Given the description of an element on the screen output the (x, y) to click on. 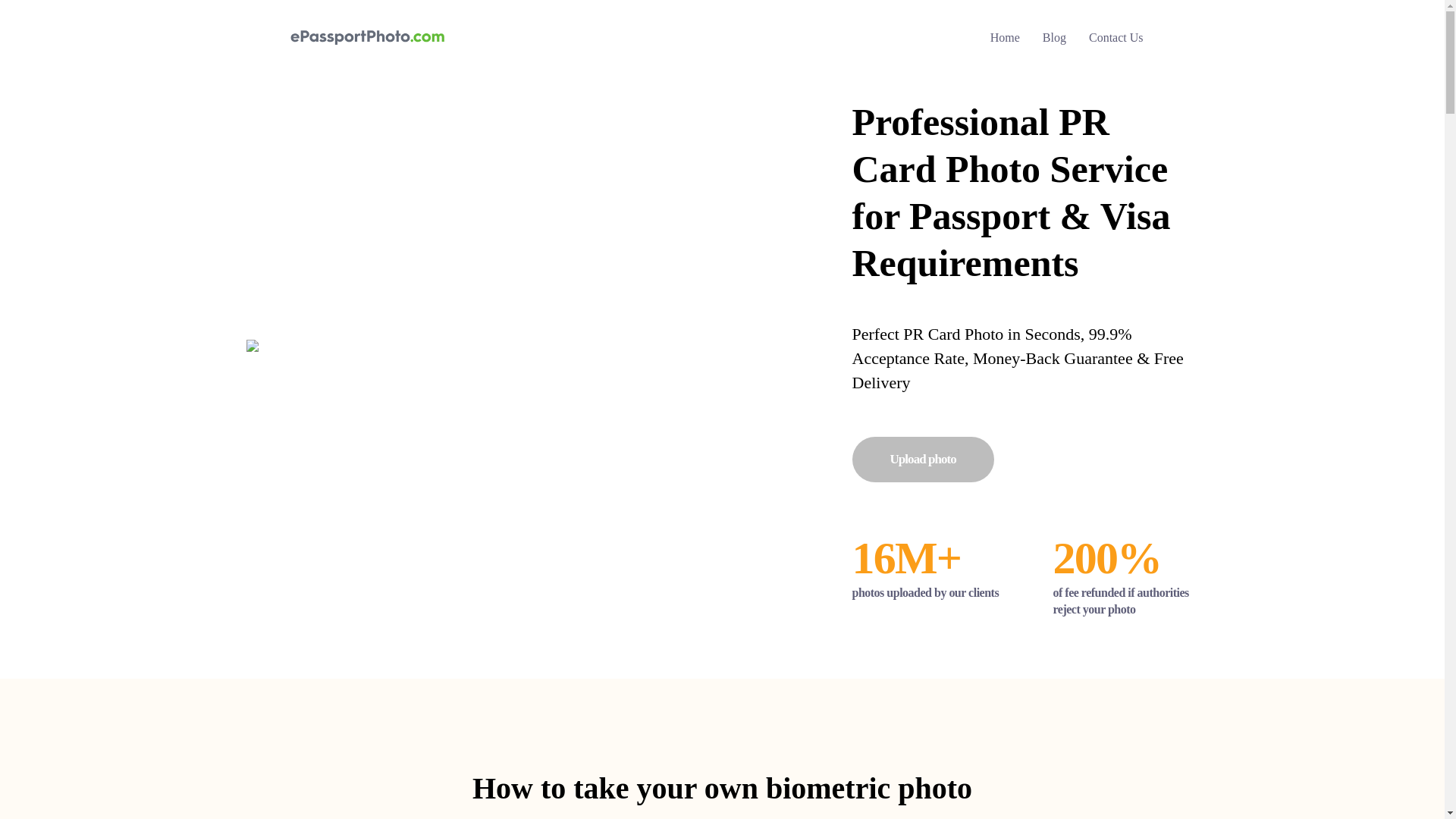
Home (1005, 37)
Upload photo (922, 459)
Blog (1054, 37)
Contact Us (1115, 37)
